Given the description of an element on the screen output the (x, y) to click on. 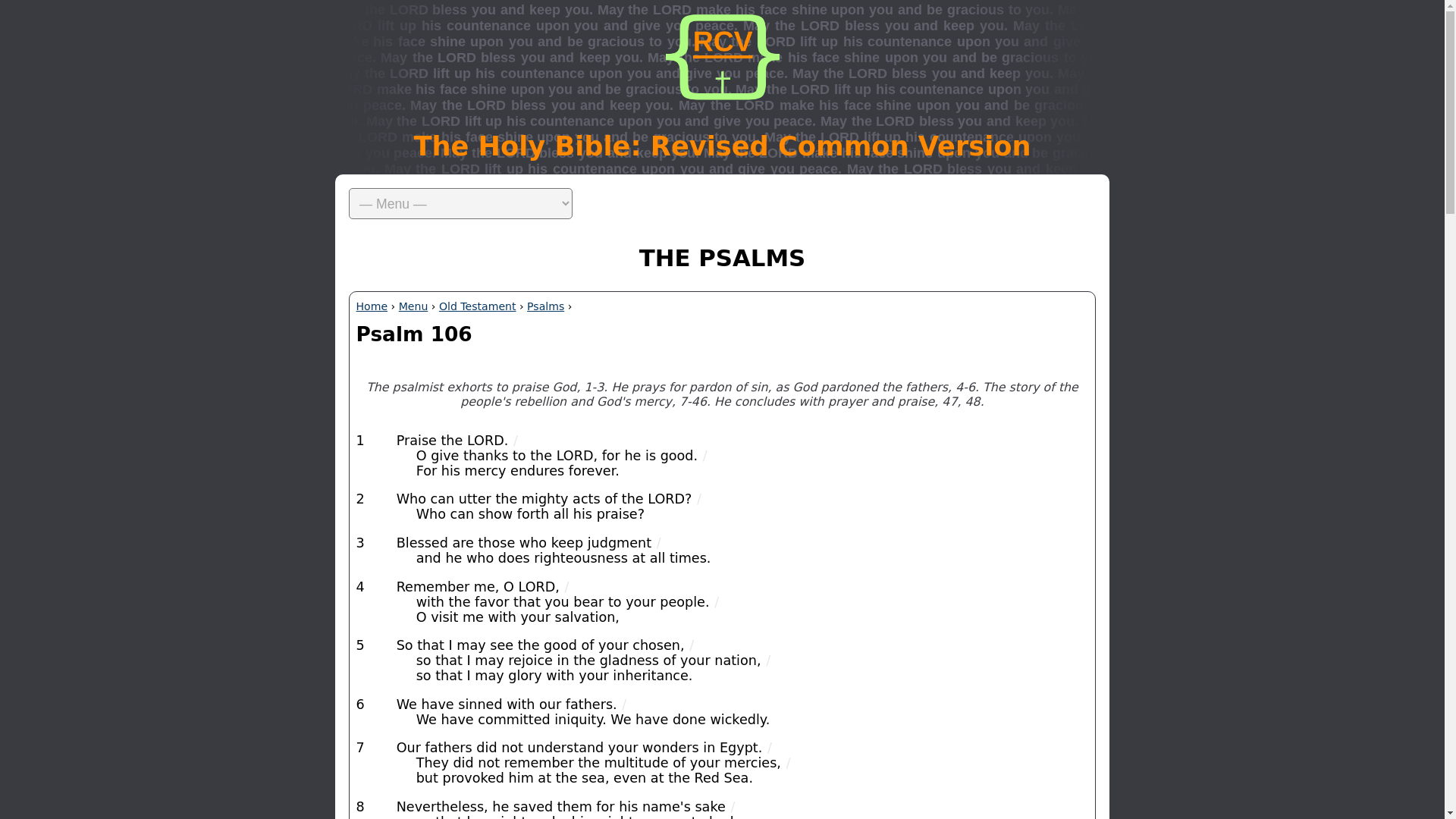
Choose a menu option to navigate the RCV website. (722, 204)
Psalms (545, 306)
Menu (413, 306)
Home (372, 306)
Old Testament (477, 306)
